Given the description of an element on the screen output the (x, y) to click on. 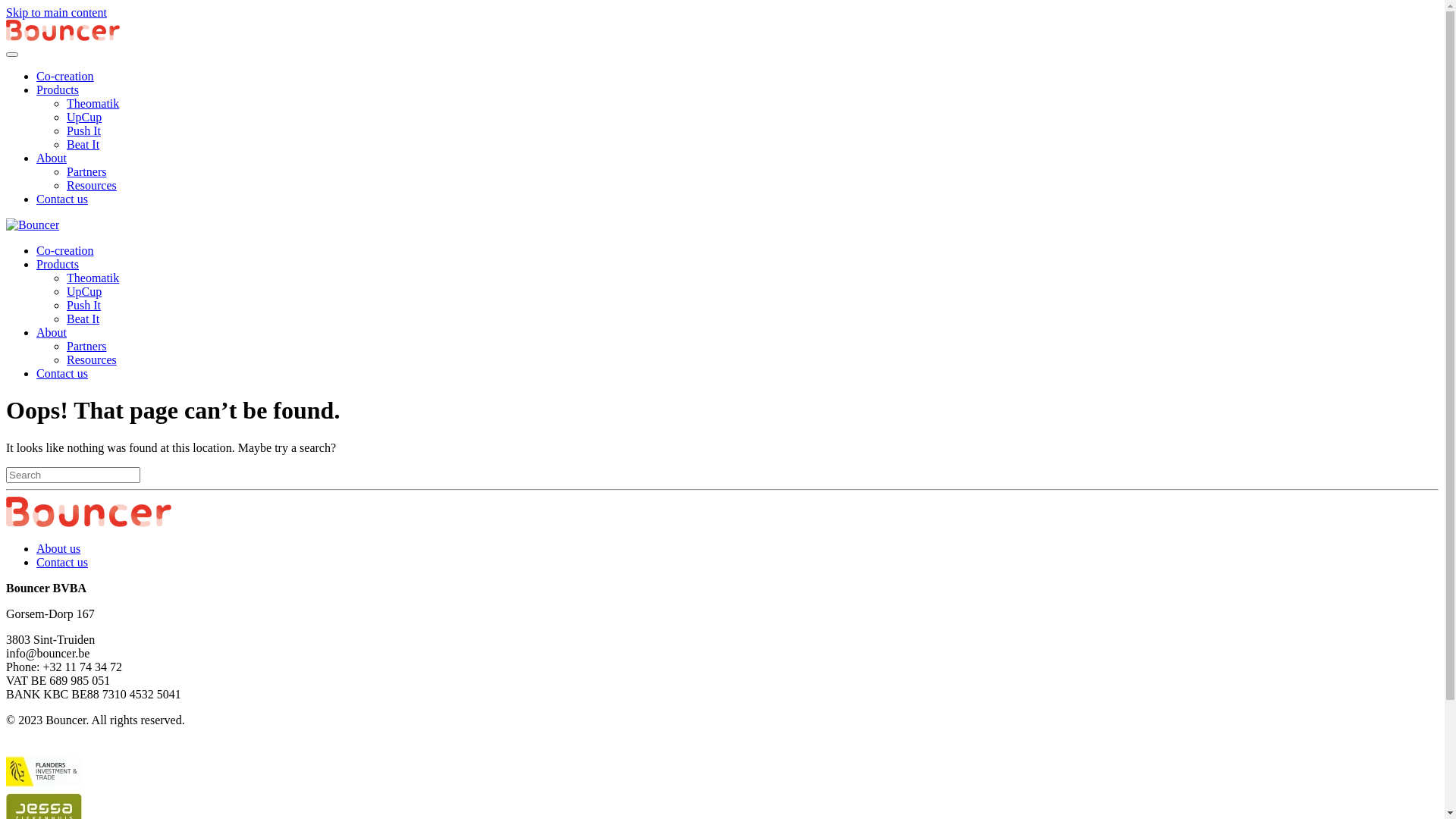
UpCup Element type: text (83, 116)
Push It Element type: text (83, 130)
Beat It Element type: text (82, 144)
Resources Element type: text (91, 184)
About Element type: text (51, 332)
Partners Element type: text (86, 345)
Resources Element type: text (91, 359)
Theomatik Element type: text (92, 277)
Beat It Element type: text (82, 318)
About us Element type: text (58, 548)
Theomatik Element type: text (92, 103)
Products Element type: text (57, 263)
Partners Element type: text (86, 171)
Products Element type: text (57, 89)
Co-creation Element type: text (65, 75)
Contact us Element type: text (61, 198)
About Element type: text (51, 157)
Skip to main content Element type: text (56, 12)
Contact us Element type: text (61, 373)
Contact us Element type: text (61, 561)
Co-creation Element type: text (65, 250)
Push It Element type: text (83, 304)
UpCup Element type: text (83, 291)
